Given the description of an element on the screen output the (x, y) to click on. 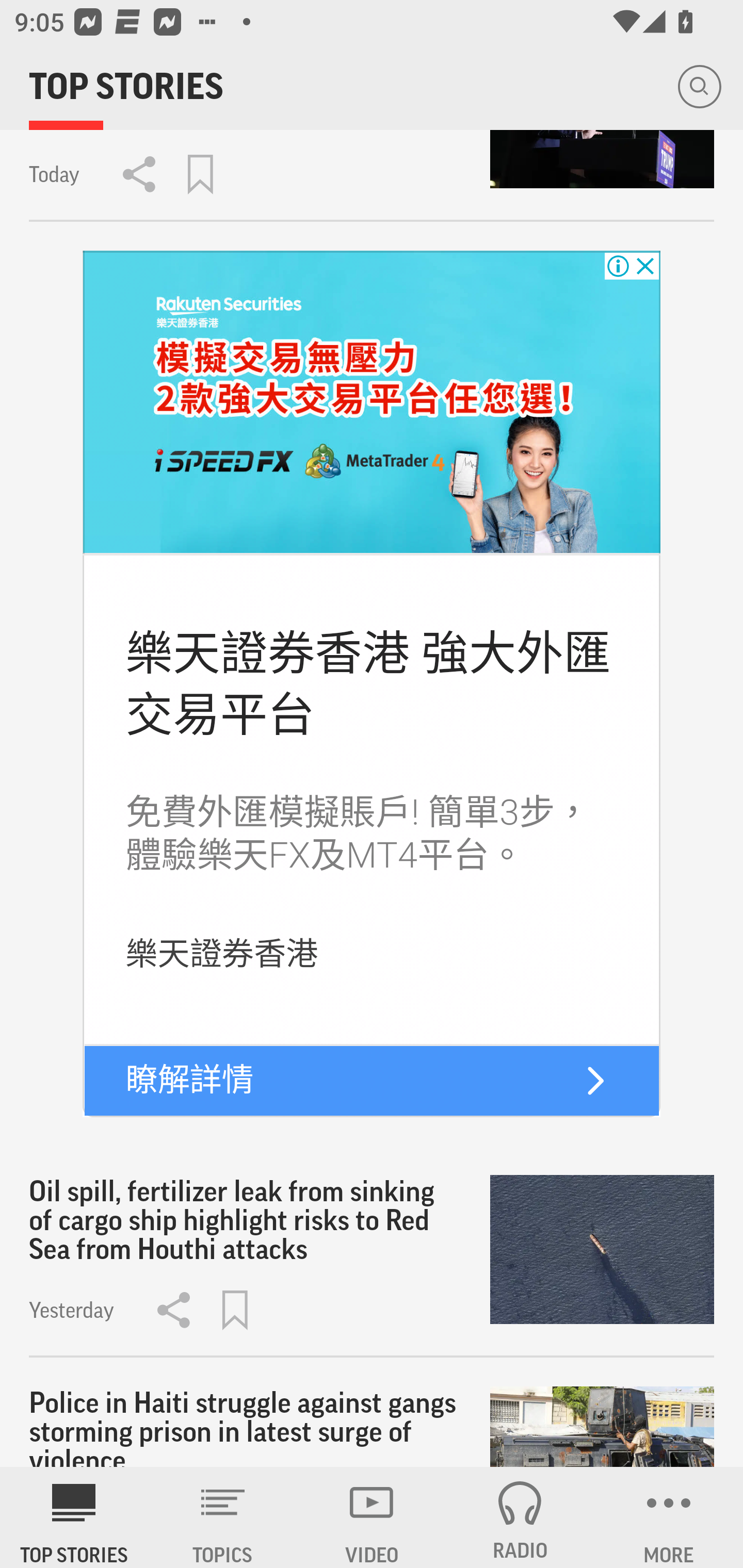
樂天證券香港 強大外匯 交易平台 樂天證券香港 強大外匯 交易平台 (367, 684)
樂天證券香港 (221, 953)
瞭解詳情 (189, 1079)
AP News TOP STORIES (74, 1517)
TOPICS (222, 1517)
VIDEO (371, 1517)
RADIO (519, 1517)
MORE (668, 1517)
